Given the description of an element on the screen output the (x, y) to click on. 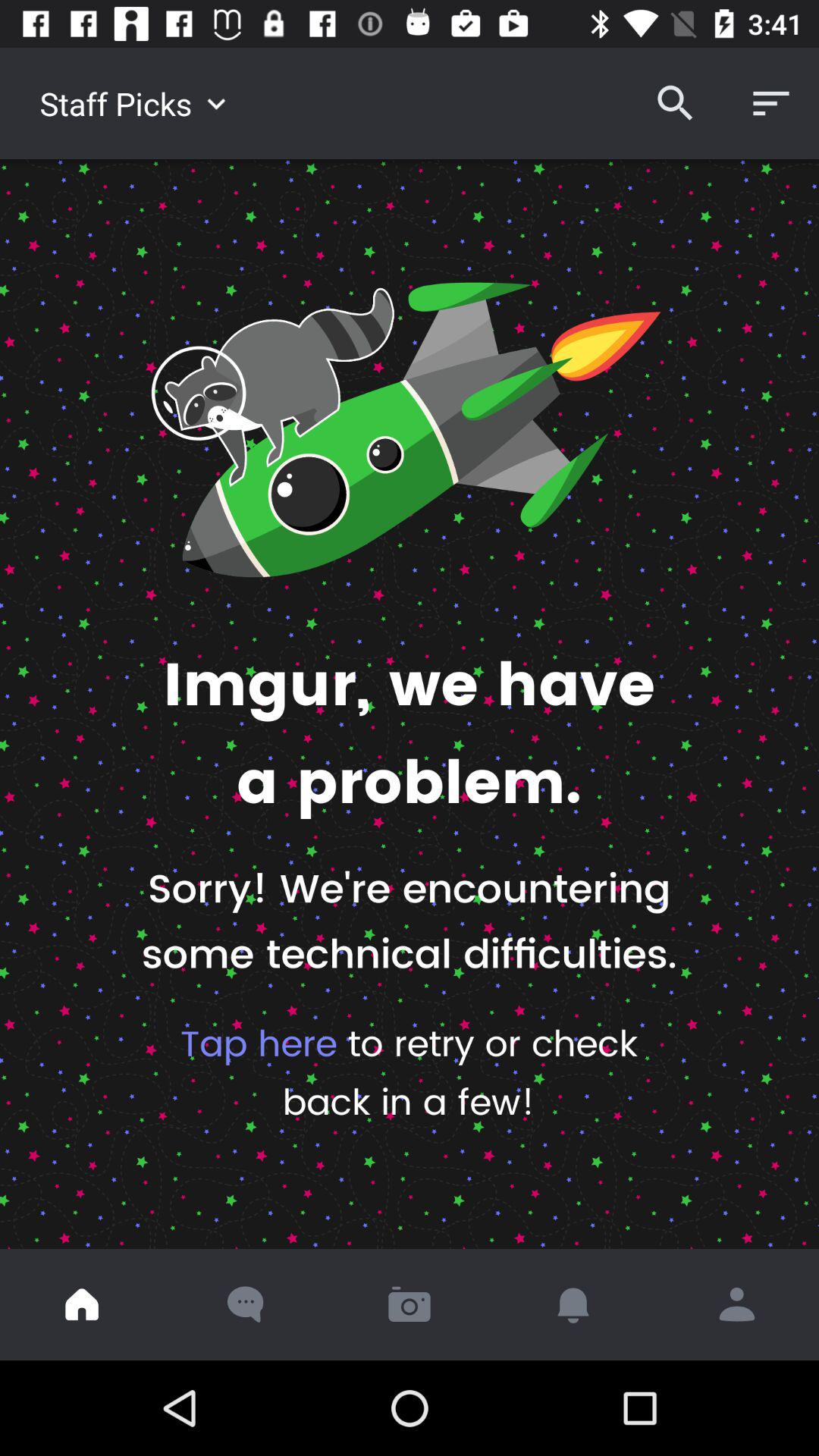
go to home page (81, 1304)
